Given the description of an element on the screen output the (x, y) to click on. 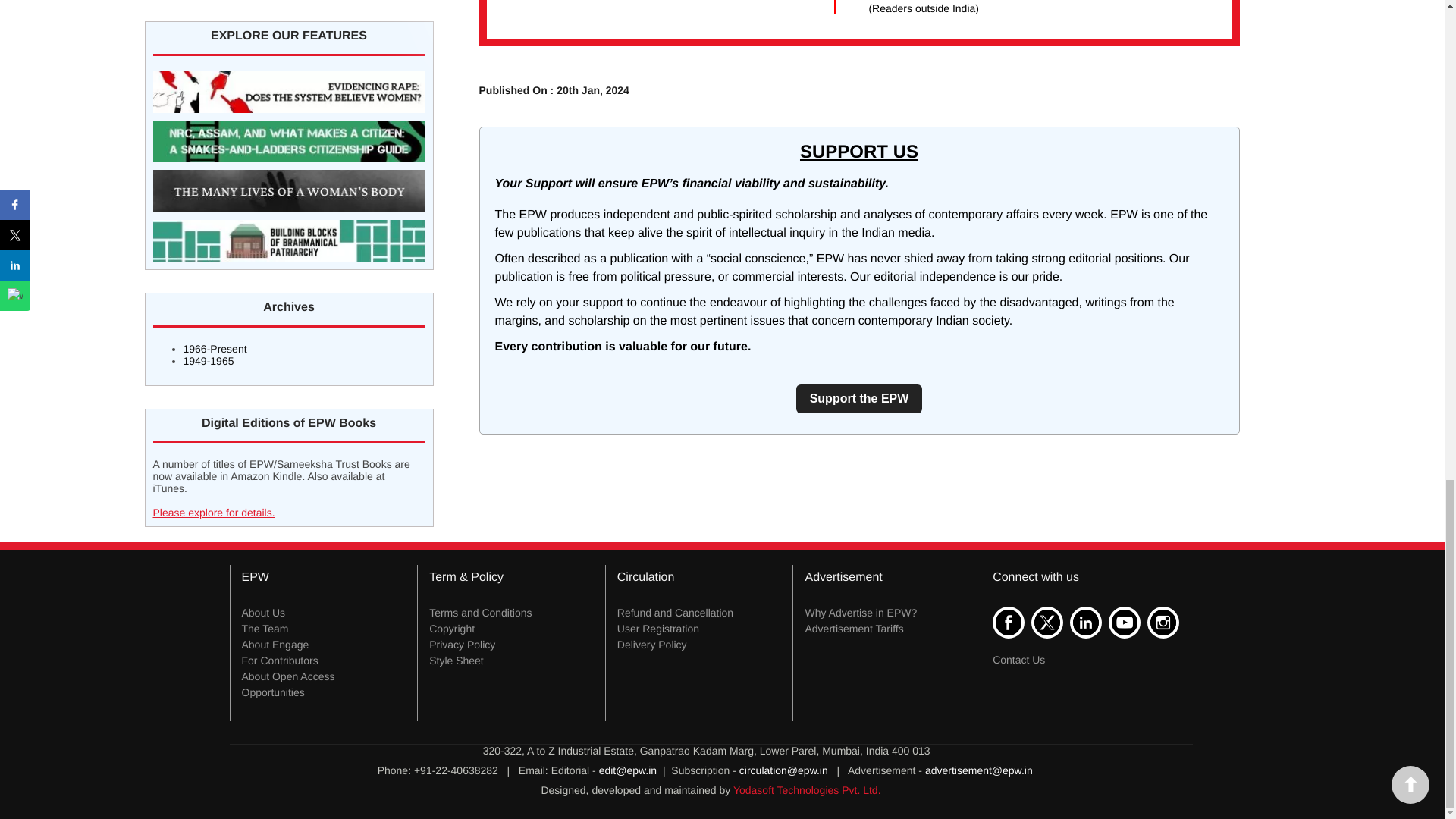
Support the EPW (859, 399)
